Given the description of an element on the screen output the (x, y) to click on. 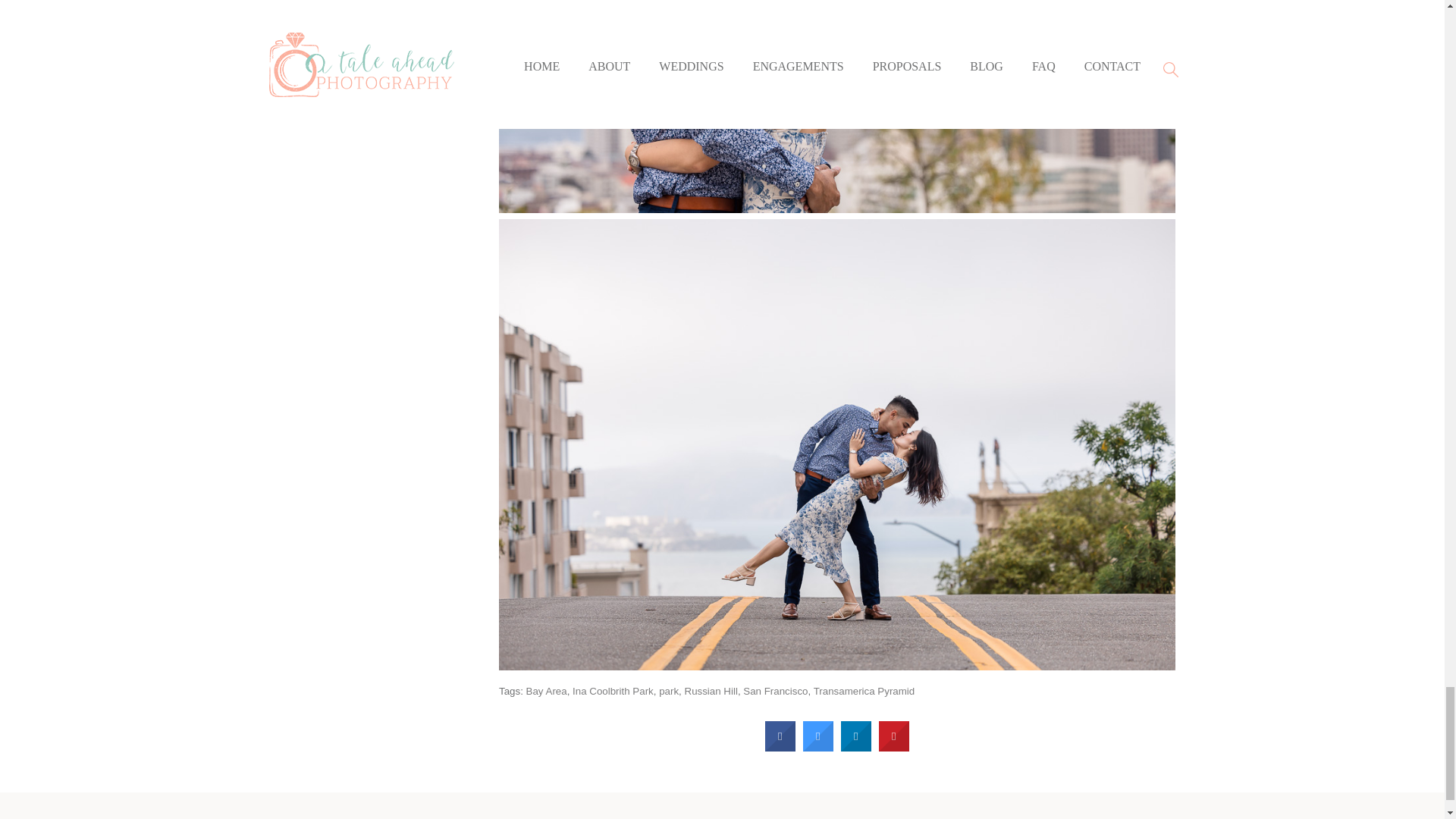
Transamerica Pyramid (864, 690)
Share on Twitter (817, 747)
Share on Pinterest (893, 747)
park (668, 690)
Russian Hill (710, 690)
Share to LinkedIn (855, 747)
San Francisco (775, 690)
Share on Facebook (779, 747)
Bay Area (546, 690)
Ina Coolbrith Park (612, 690)
